Given the description of an element on the screen output the (x, y) to click on. 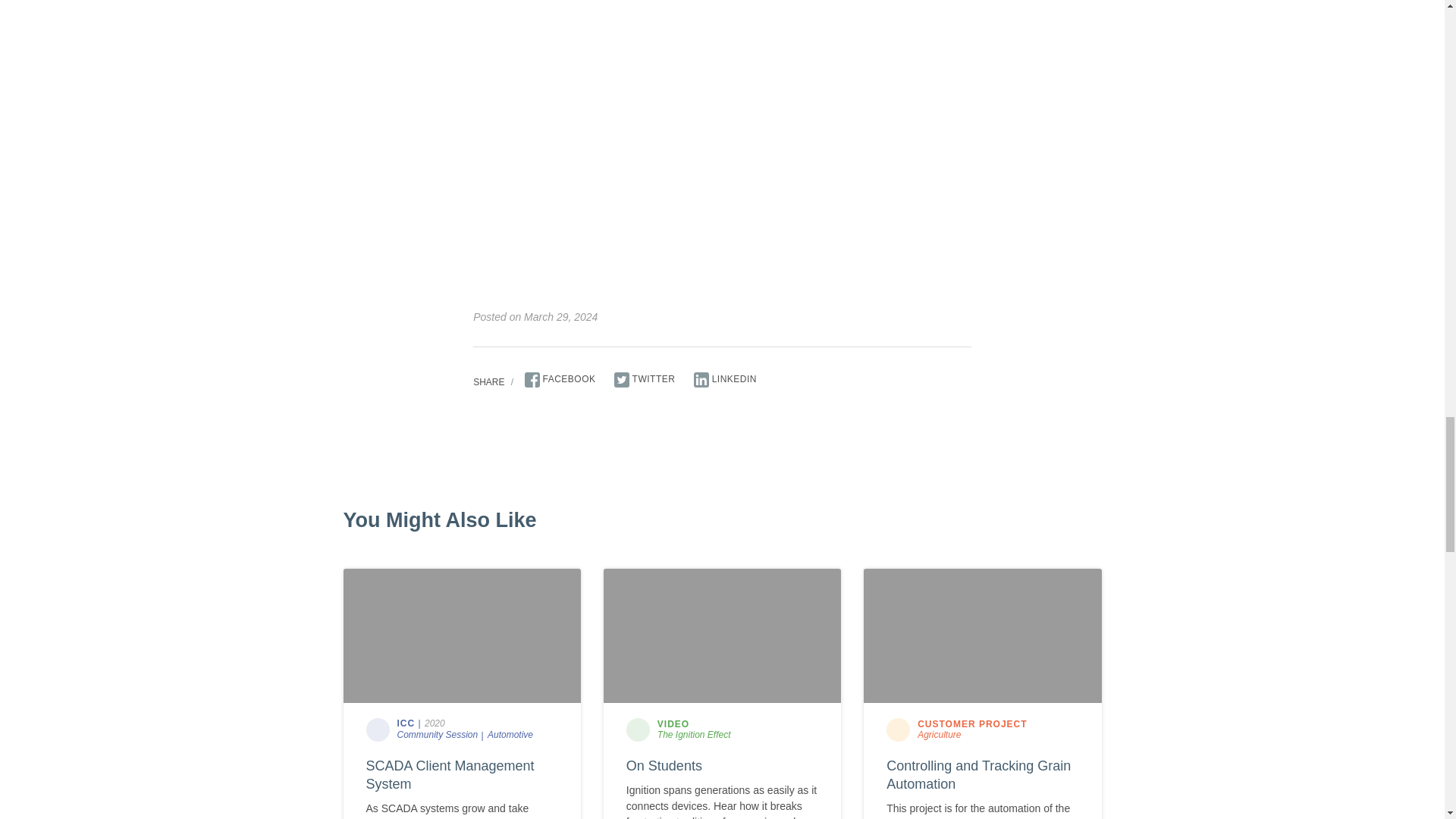
Twitter (644, 379)
Facebook (559, 379)
Linkedin (725, 379)
